Given the description of an element on the screen output the (x, y) to click on. 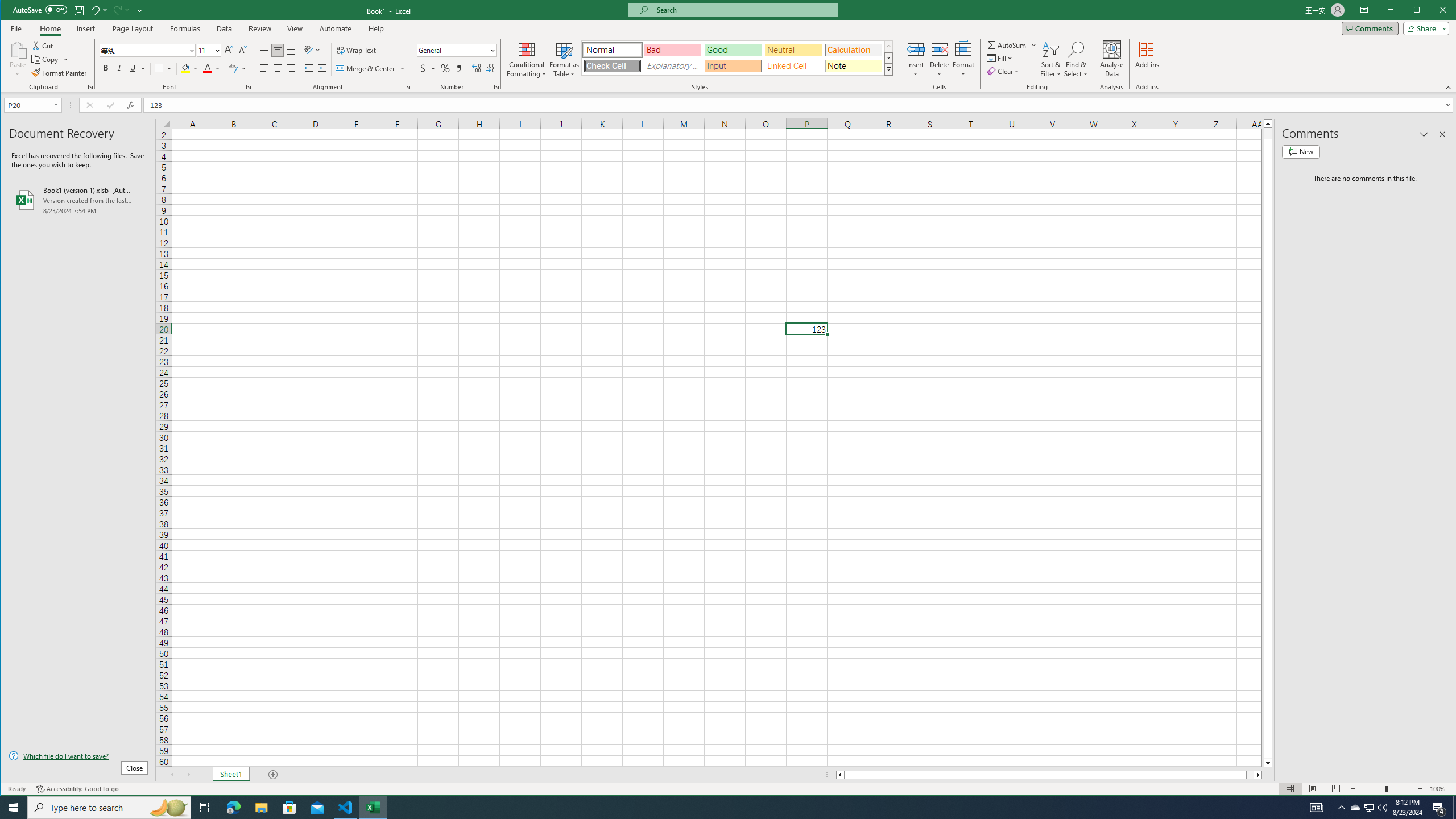
Office Clipboard... (89, 86)
Delete Cells... (939, 48)
Accounting Number Format (422, 68)
AutoSum (1012, 44)
Font Size (205, 50)
Type here to search (108, 807)
Page up (1267, 132)
